Given the description of an element on the screen output the (x, y) to click on. 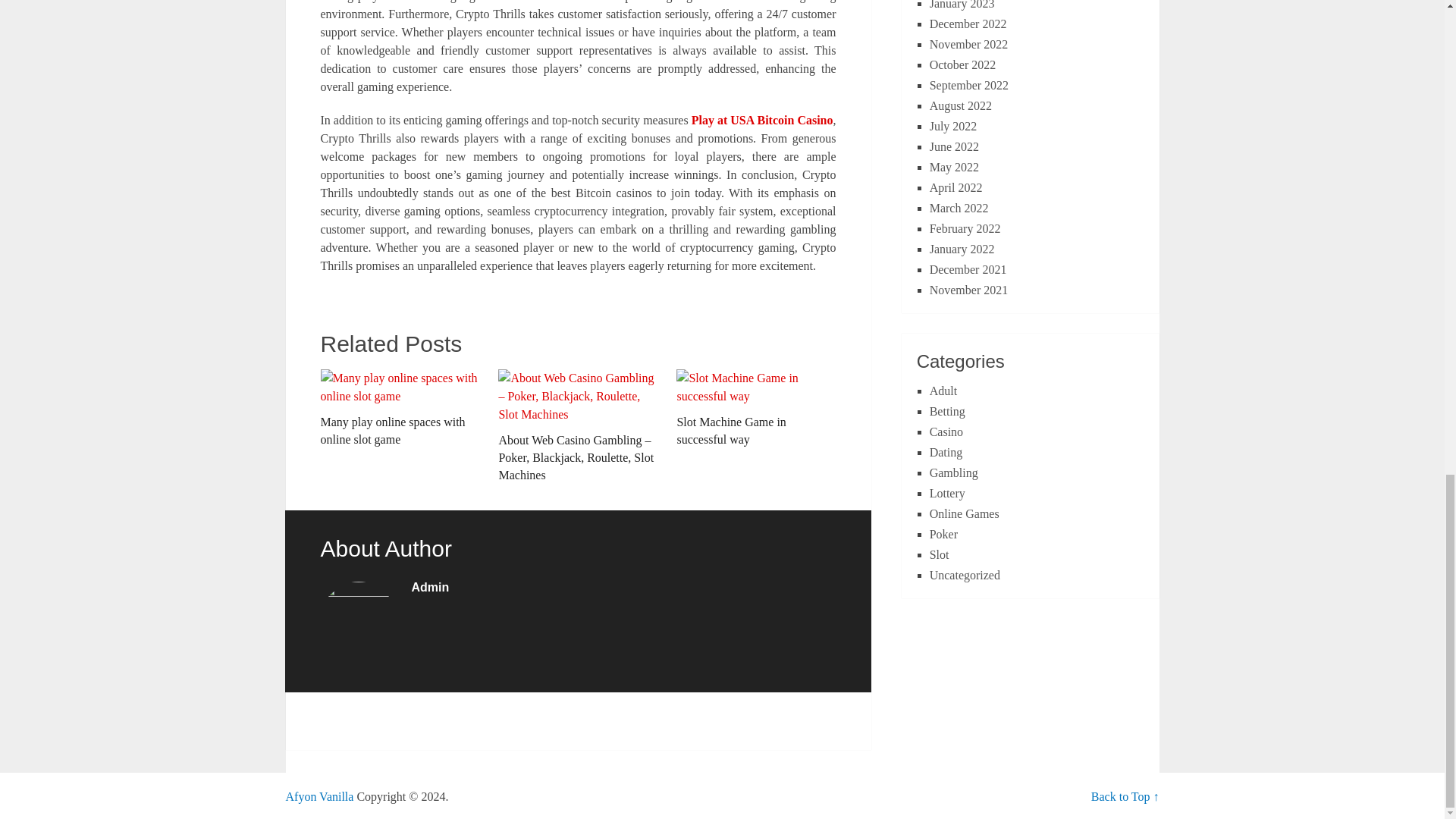
Play at USA Bitcoin Casino (761, 119)
Many play online spaces with online slot game (399, 408)
Slot Machine Game in successful way (756, 408)
Slot Machine Game in successful way (756, 408)
Many play online spaces with online slot game (399, 408)
Check the play guides covering all casino games (319, 796)
